Given the description of an element on the screen output the (x, y) to click on. 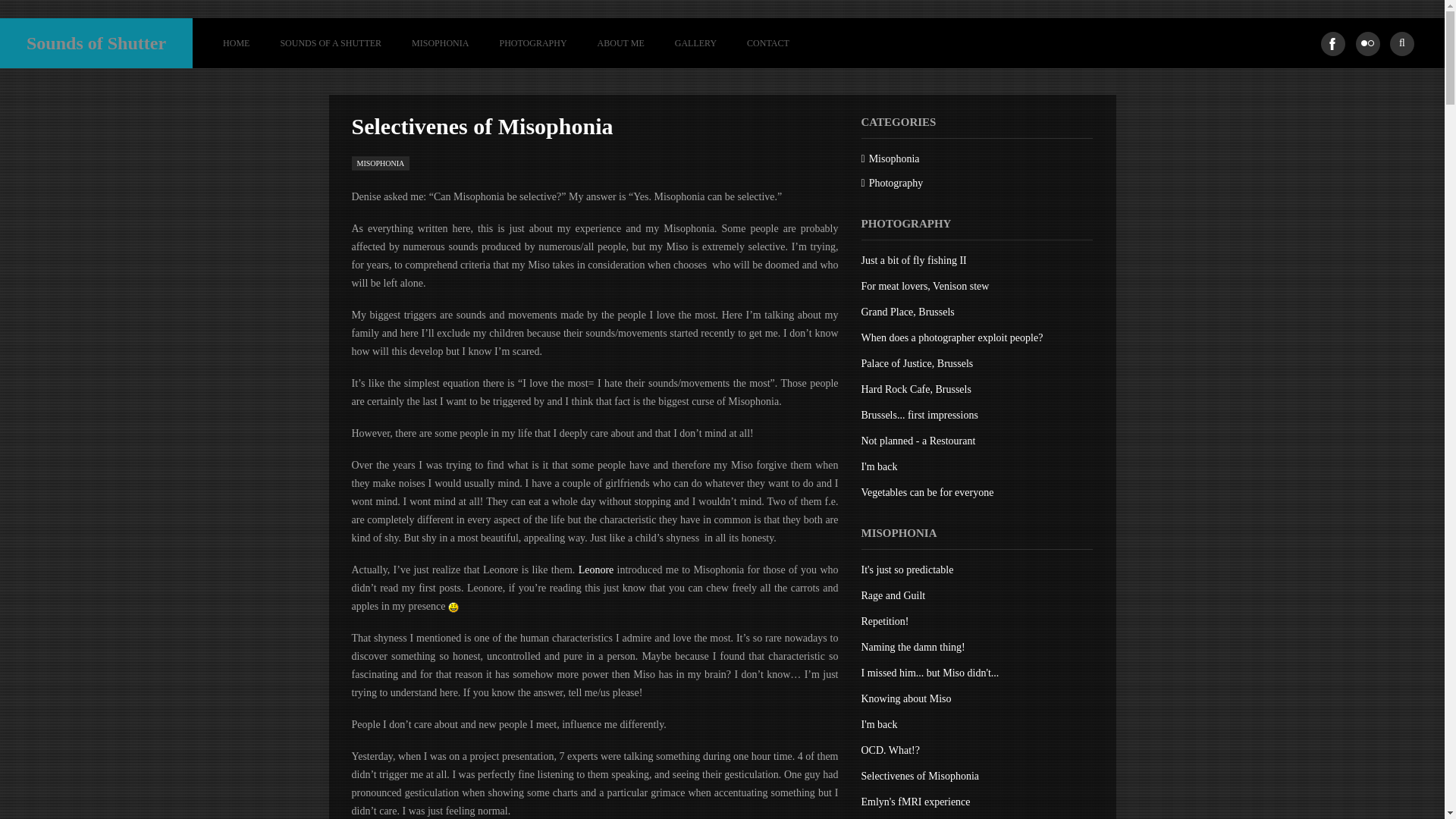
Just a bit of fly fishing II (913, 260)
CONTACT (760, 42)
SOUNDS OF A SHUTTER (330, 42)
For meat lovers, Venison stew (925, 285)
Leonore (596, 569)
ABOUT ME (620, 42)
MISOPHONIA (439, 42)
Sounds of Shutter (95, 42)
PHOTOGRAPHY (531, 42)
GALLERY (695, 42)
The first shared words about misophonia (596, 569)
HOME (236, 42)
MISOPHONIA (381, 163)
